Given the description of an element on the screen output the (x, y) to click on. 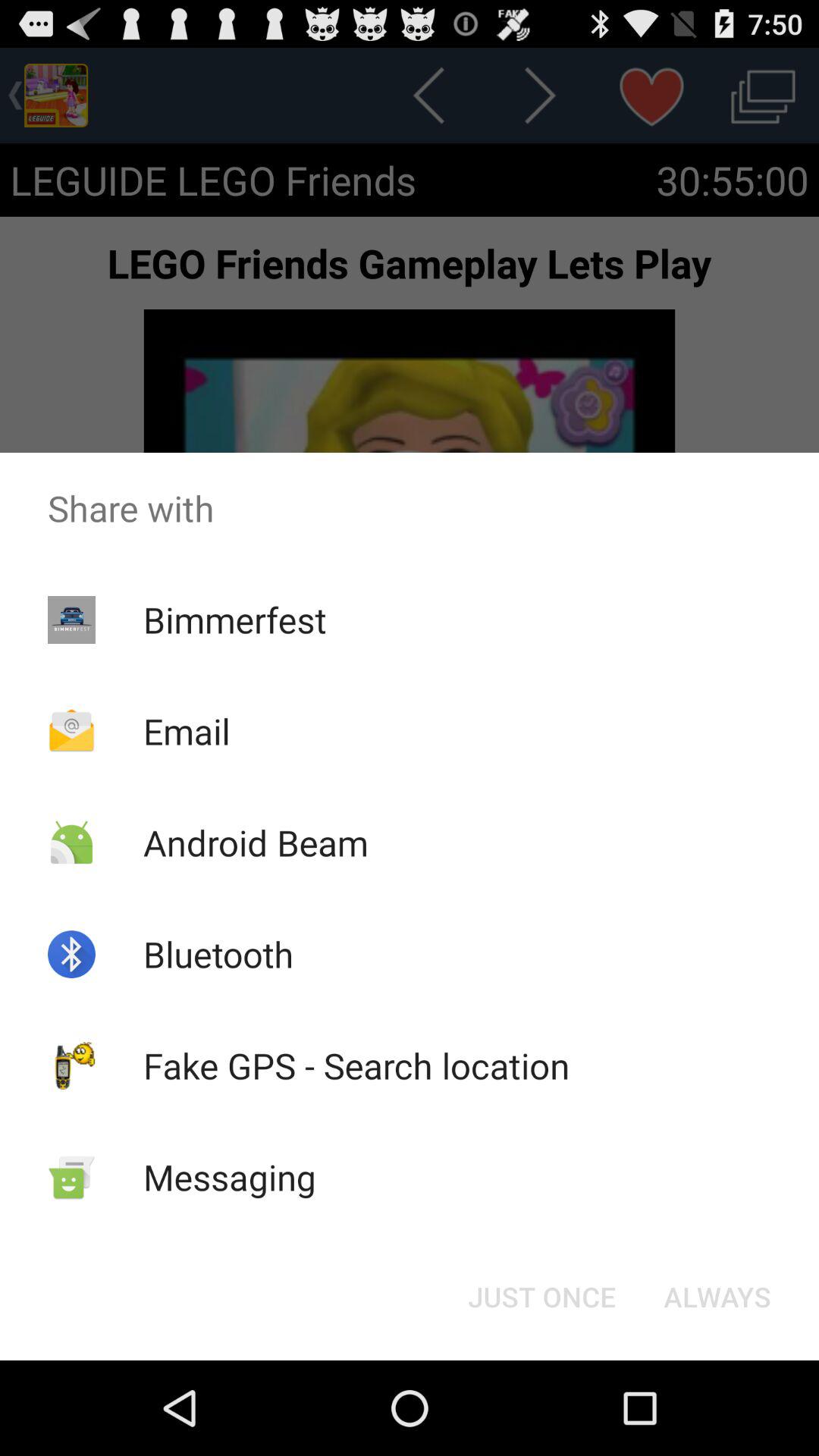
flip until just once button (541, 1296)
